Given the description of an element on the screen output the (x, y) to click on. 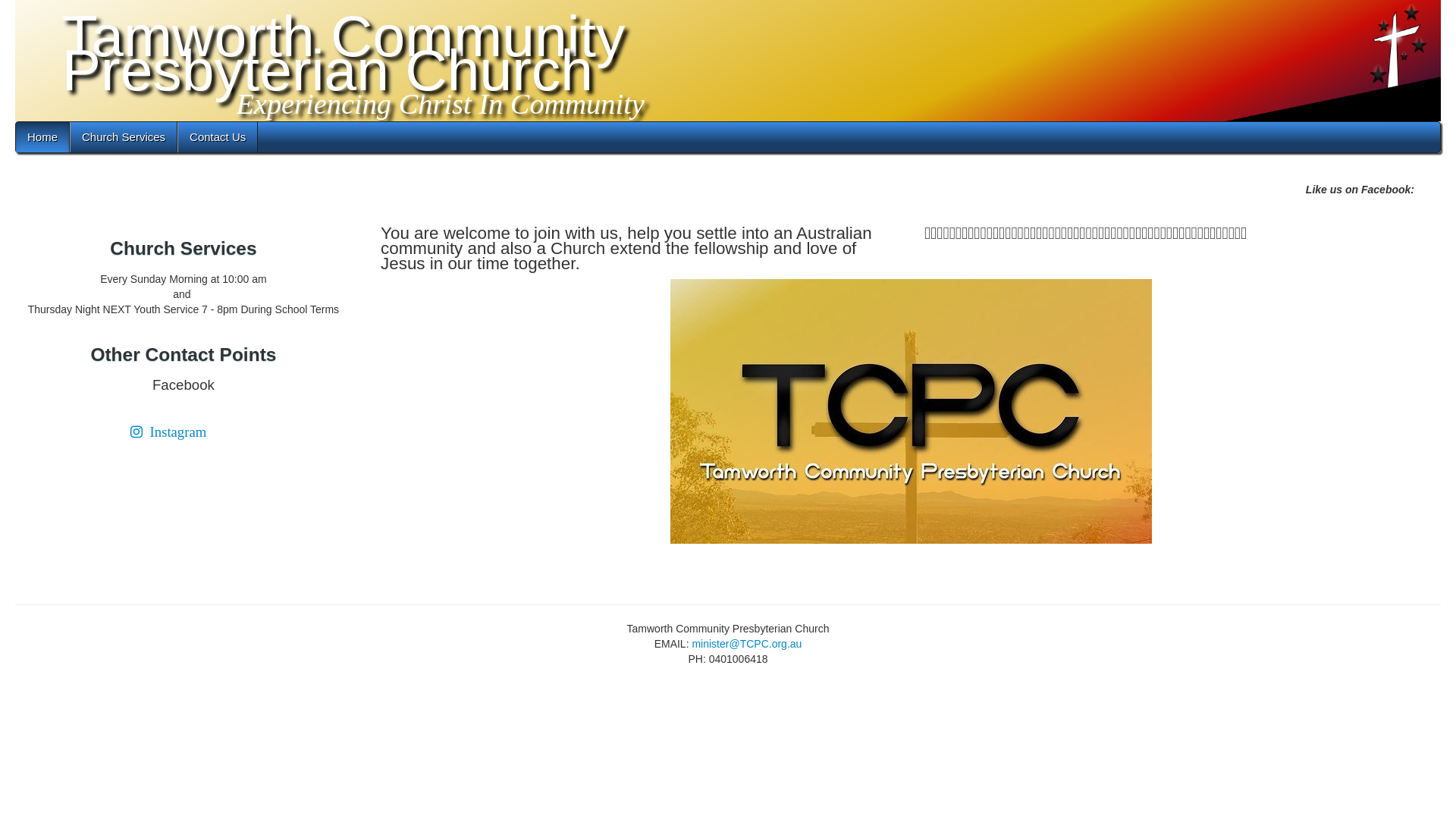
  Instagram Element type: text (168, 432)
Contact Us Element type: text (217, 137)
minister@TCPC.org.au Element type: text (746, 643)
Home Element type: text (42, 137)
Church Services Element type: text (123, 137)
